Given the description of an element on the screen output the (x, y) to click on. 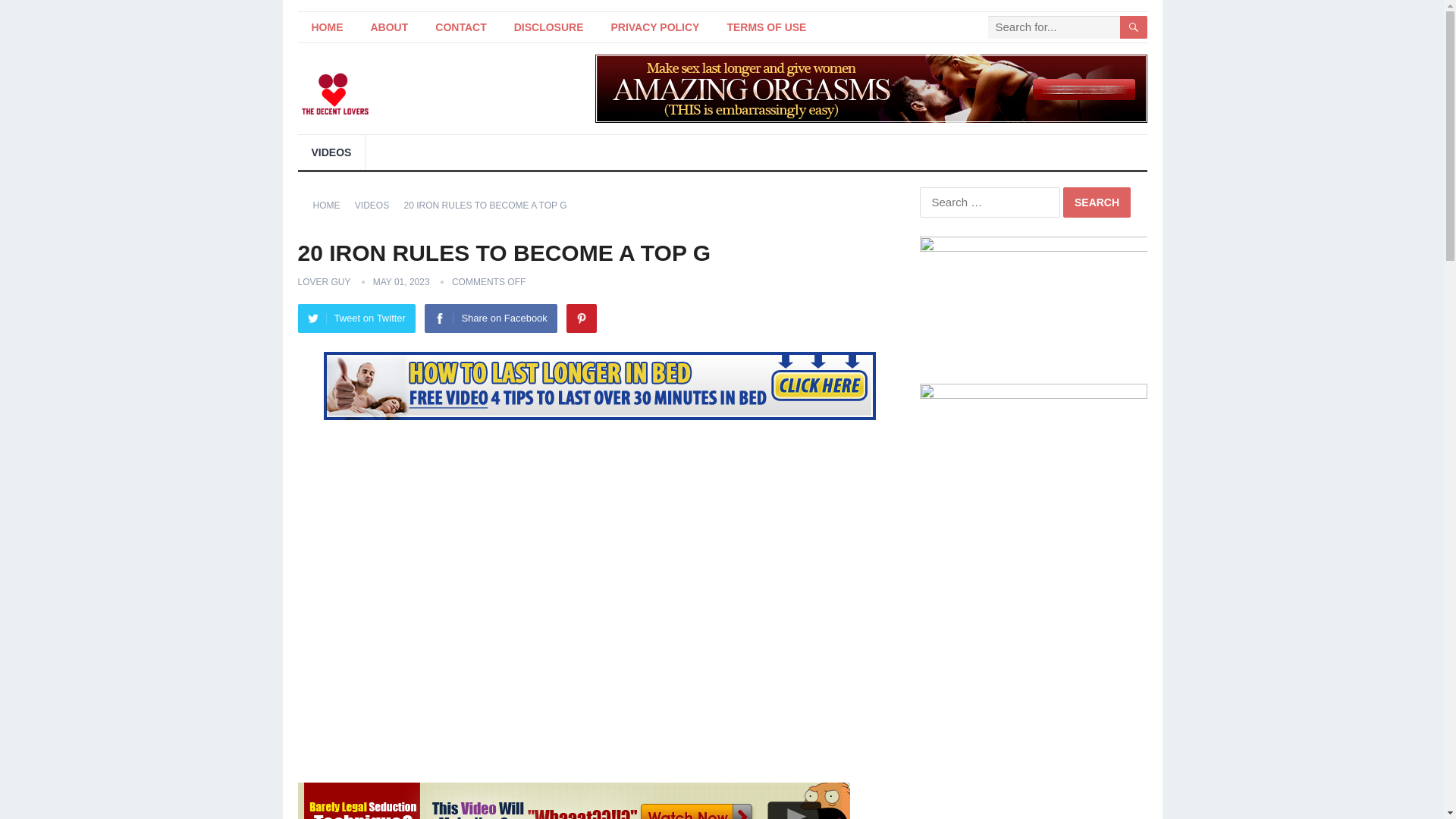
Share on Facebook (490, 317)
DISCLOSURE (548, 27)
ABOUT (389, 27)
Pinterest (581, 317)
PRIVACY POLICY (654, 27)
Search (1096, 202)
Posts by Lover Guy (323, 281)
LOVER GUY (323, 281)
HOME (331, 204)
TERMS OF USE (766, 27)
